Given the description of an element on the screen output the (x, y) to click on. 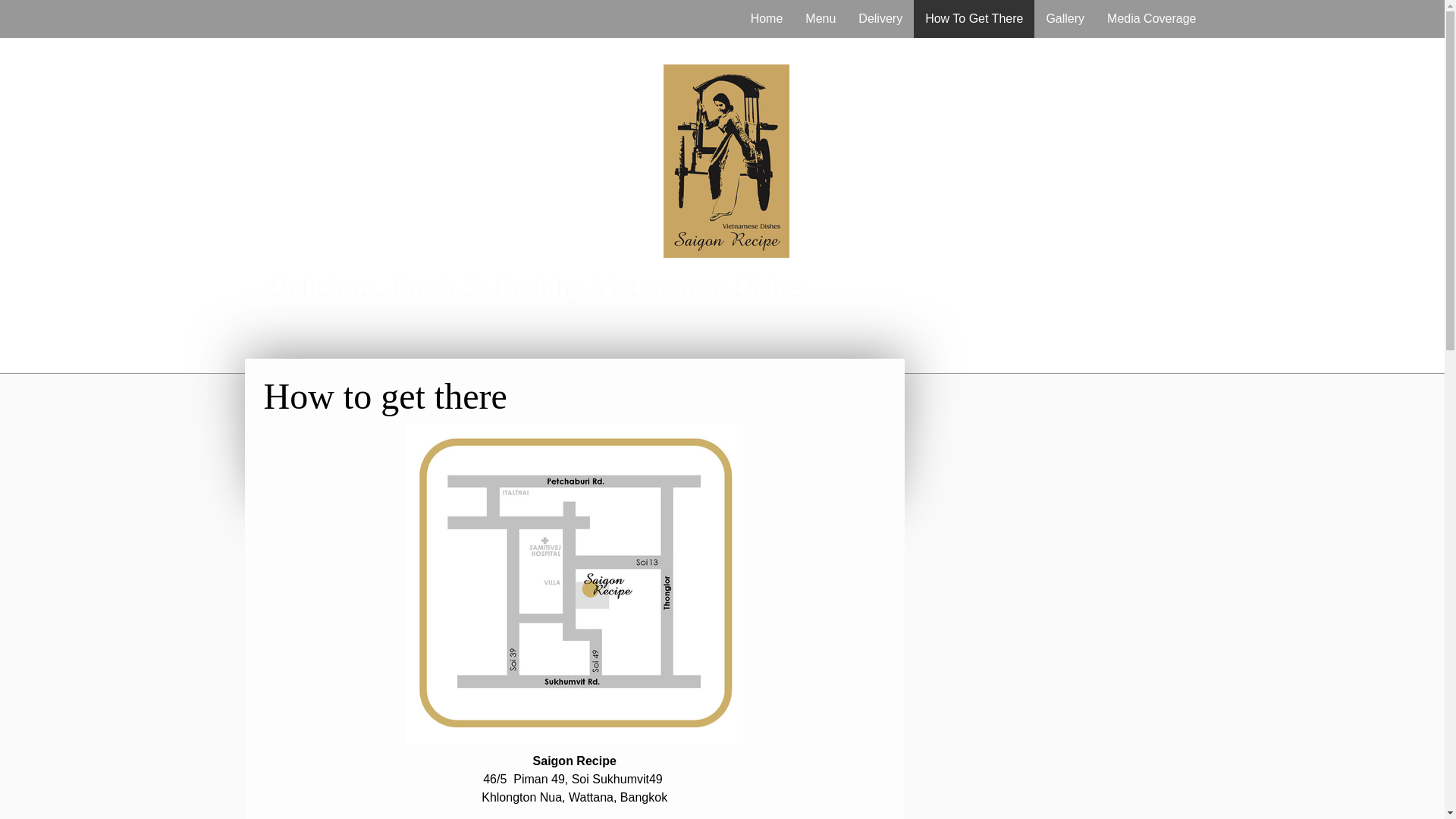
How To Get There (973, 18)
Media Coverage (1151, 18)
Delivery (880, 18)
Home (766, 18)
Gallery (1064, 18)
Menu (820, 18)
